Given the description of an element on the screen output the (x, y) to click on. 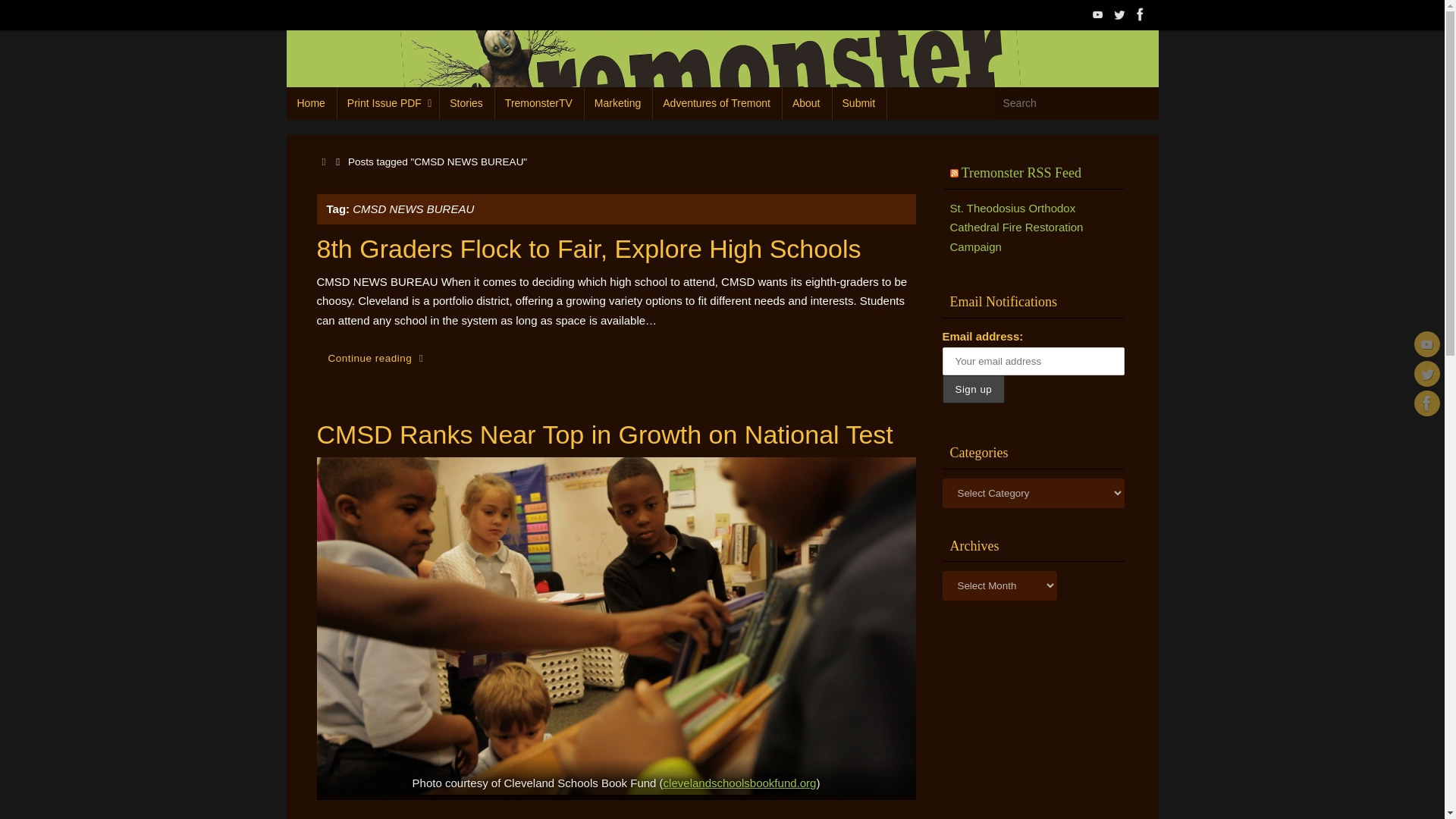
YouTube (1426, 344)
Facebook (1140, 14)
Home (311, 102)
Home (324, 161)
Tremonster RSS Feed (1020, 172)
Adventures of Tremont (716, 102)
St. Theodosius Orthodox Cathedral Fire Restoration Campaign (1016, 227)
CMSD Ranks Near Top in Growth on National Test (605, 434)
Submit (858, 102)
TremonsterTV (539, 102)
